Given the description of an element on the screen output the (x, y) to click on. 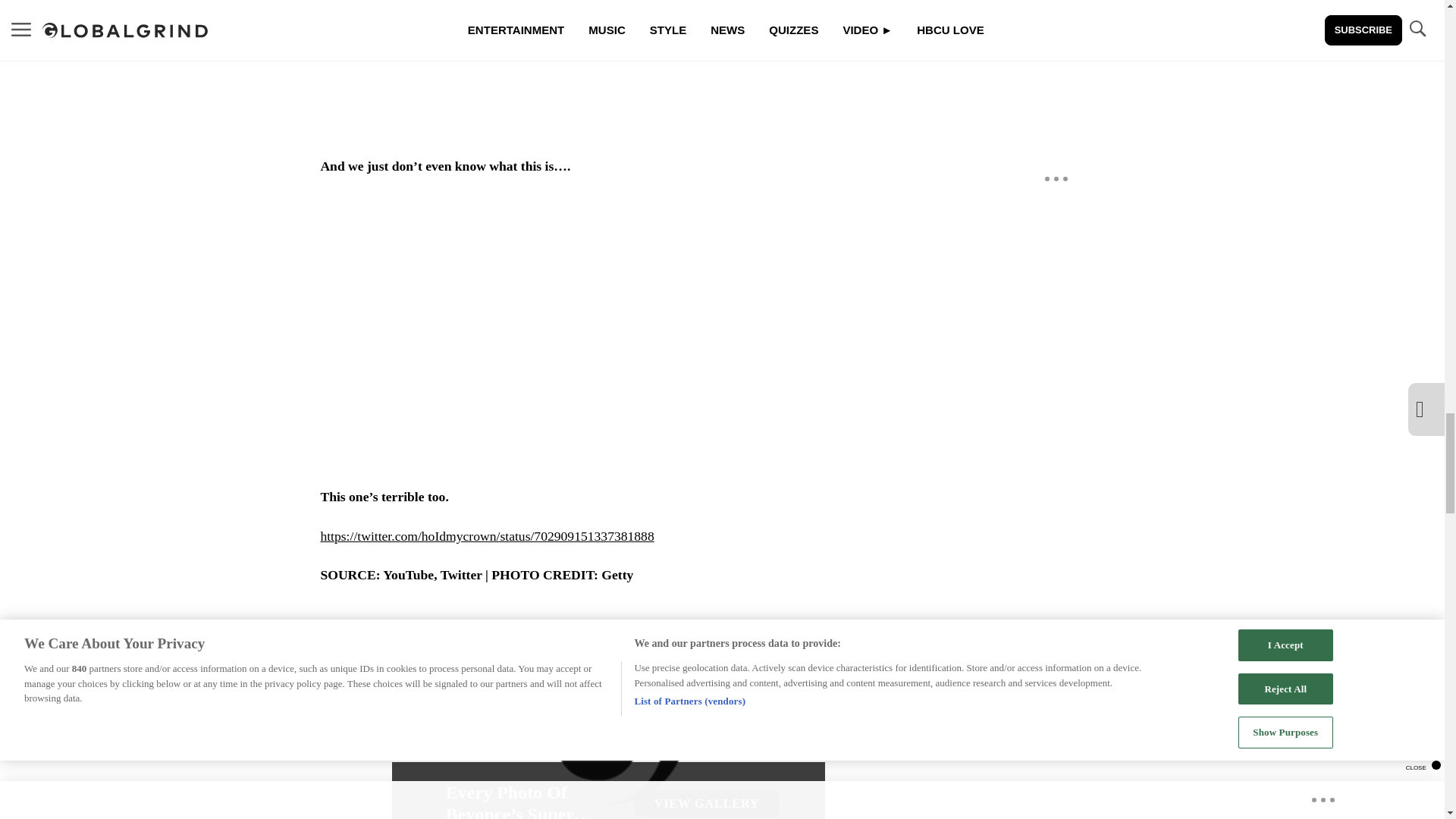
Media Playlist (461, 637)
Embedded content (609, 68)
